Given the description of an element on the screen output the (x, y) to click on. 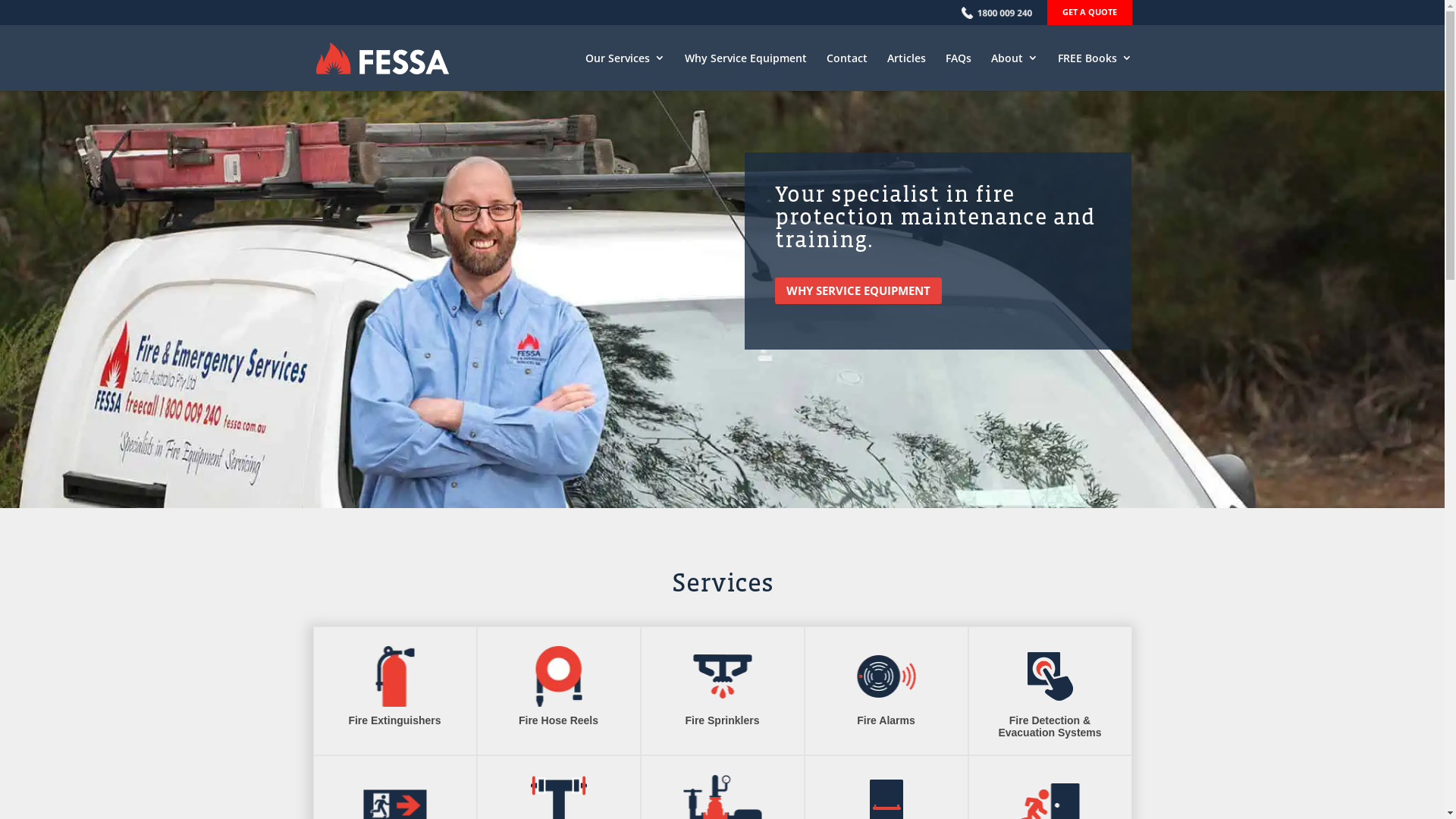
Fire Detection & Evacuation Systems Element type: text (1049, 726)
Fire Hose Reels Element type: text (558, 720)
Contact Element type: text (846, 70)
WHY SERVICE EQUIPMENT Element type: text (858, 290)
GET A QUOTE Element type: text (1088, 11)
Fire Extinguishers Element type: text (394, 720)
Fire Alarms Element type: text (885, 720)
Articles Element type: text (906, 70)
FAQs Element type: text (957, 70)
About Element type: text (1013, 70)
FREE Books Element type: text (1094, 70)
Why Service Equipment Element type: text (745, 70)
Fire Sprinklers Element type: text (721, 720)
Our Services Element type: text (625, 70)
